Given the description of an element on the screen output the (x, y) to click on. 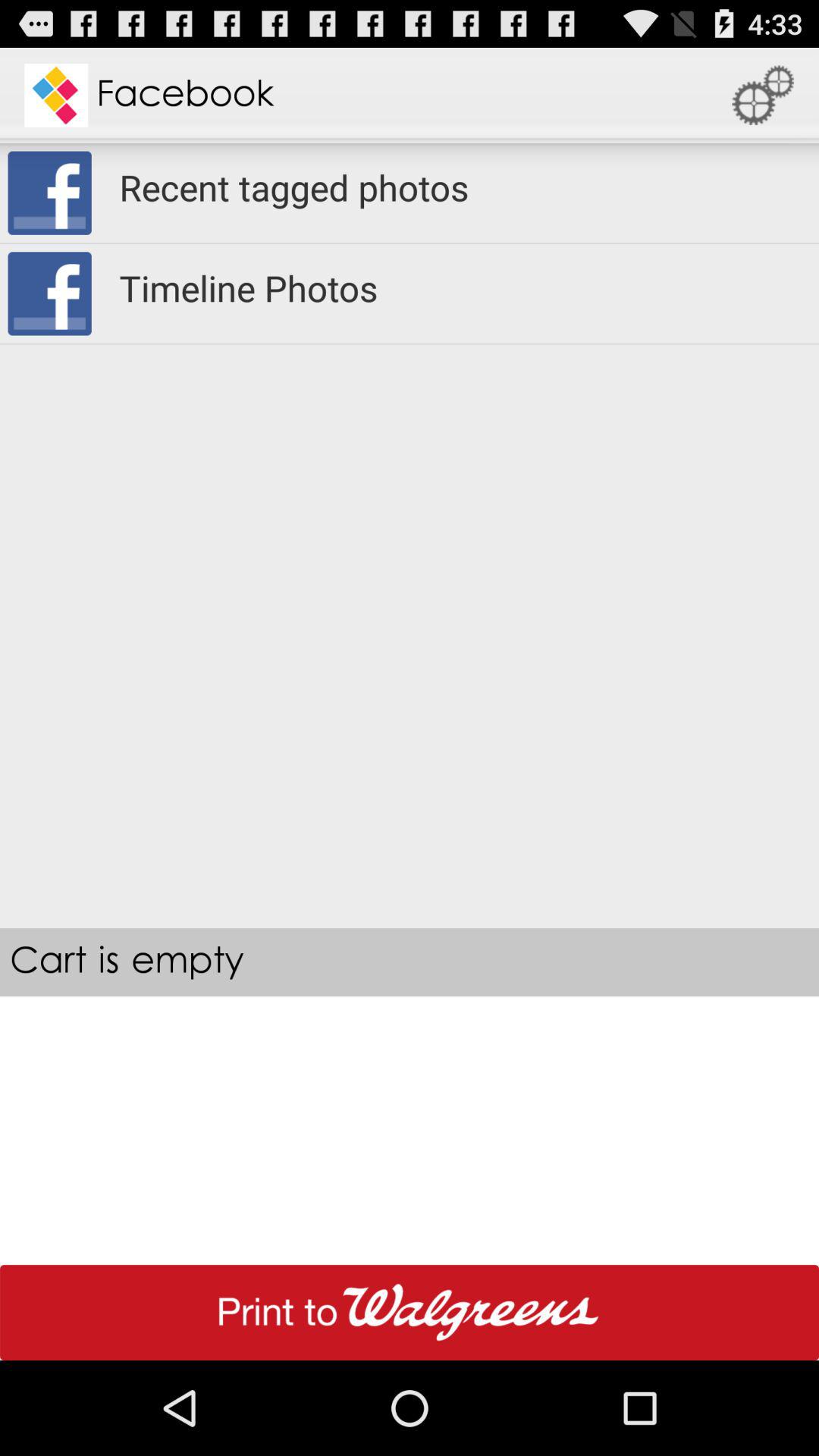
tap item at the top right corner (763, 95)
